Given the description of an element on the screen output the (x, y) to click on. 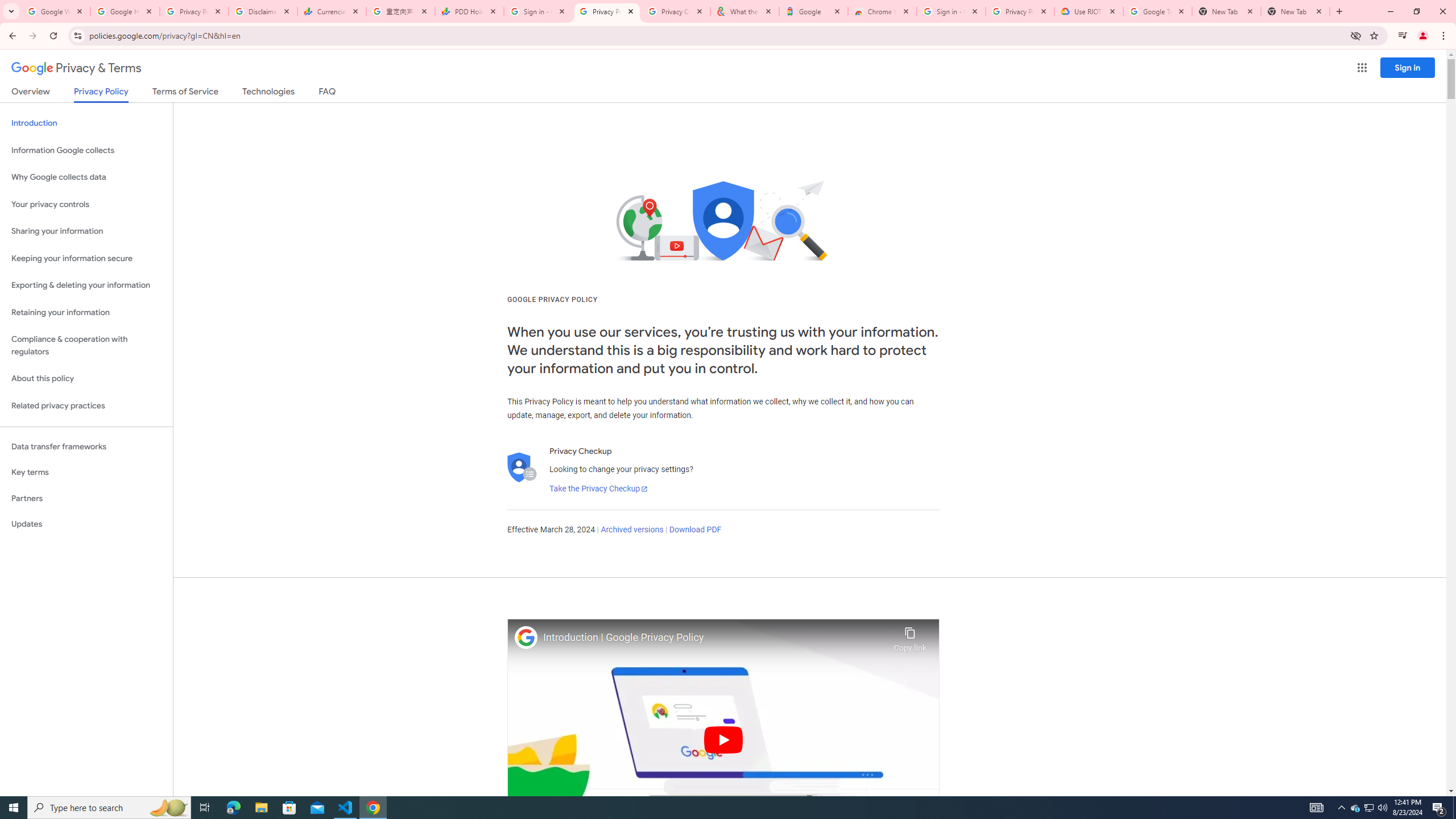
Currencies - Google Finance (331, 11)
Photo image of Google (526, 636)
Play (723, 739)
